Given the description of an element on the screen output the (x, y) to click on. 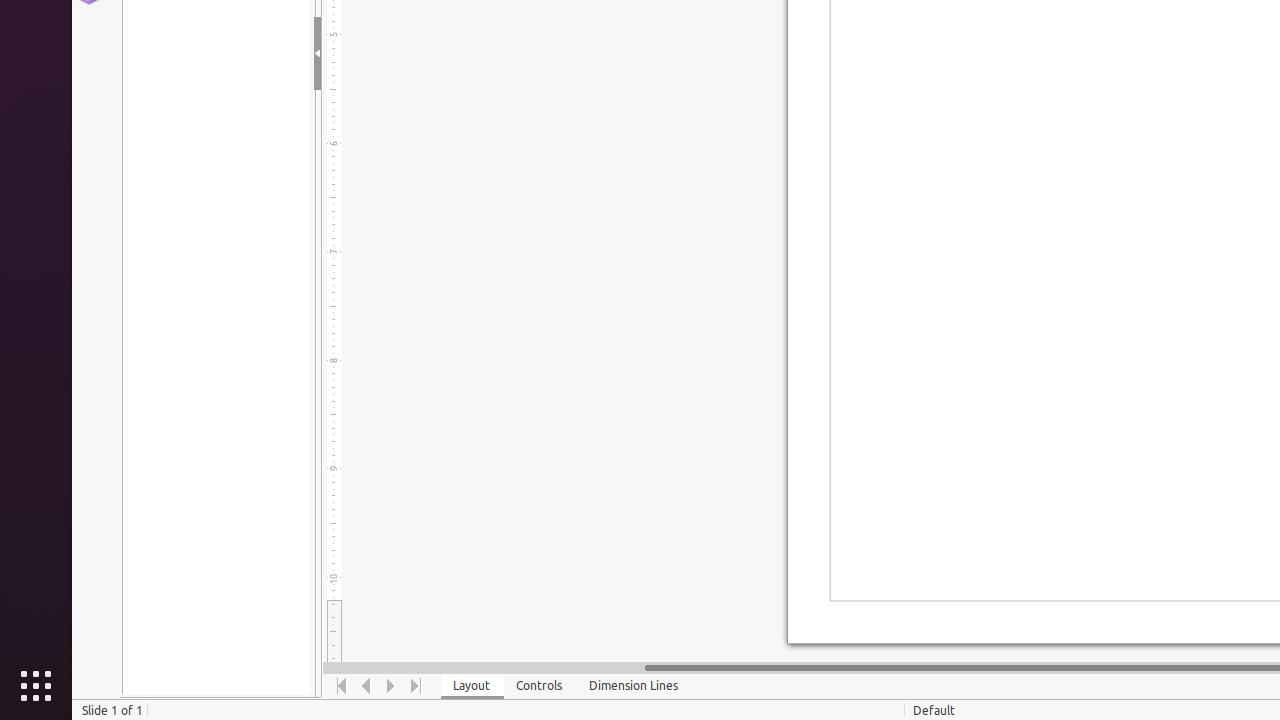
Move Left Element type: push-button (366, 686)
Move To Home Element type: push-button (341, 686)
Move Right Element type: push-button (391, 686)
